Given the description of an element on the screen output the (x, y) to click on. 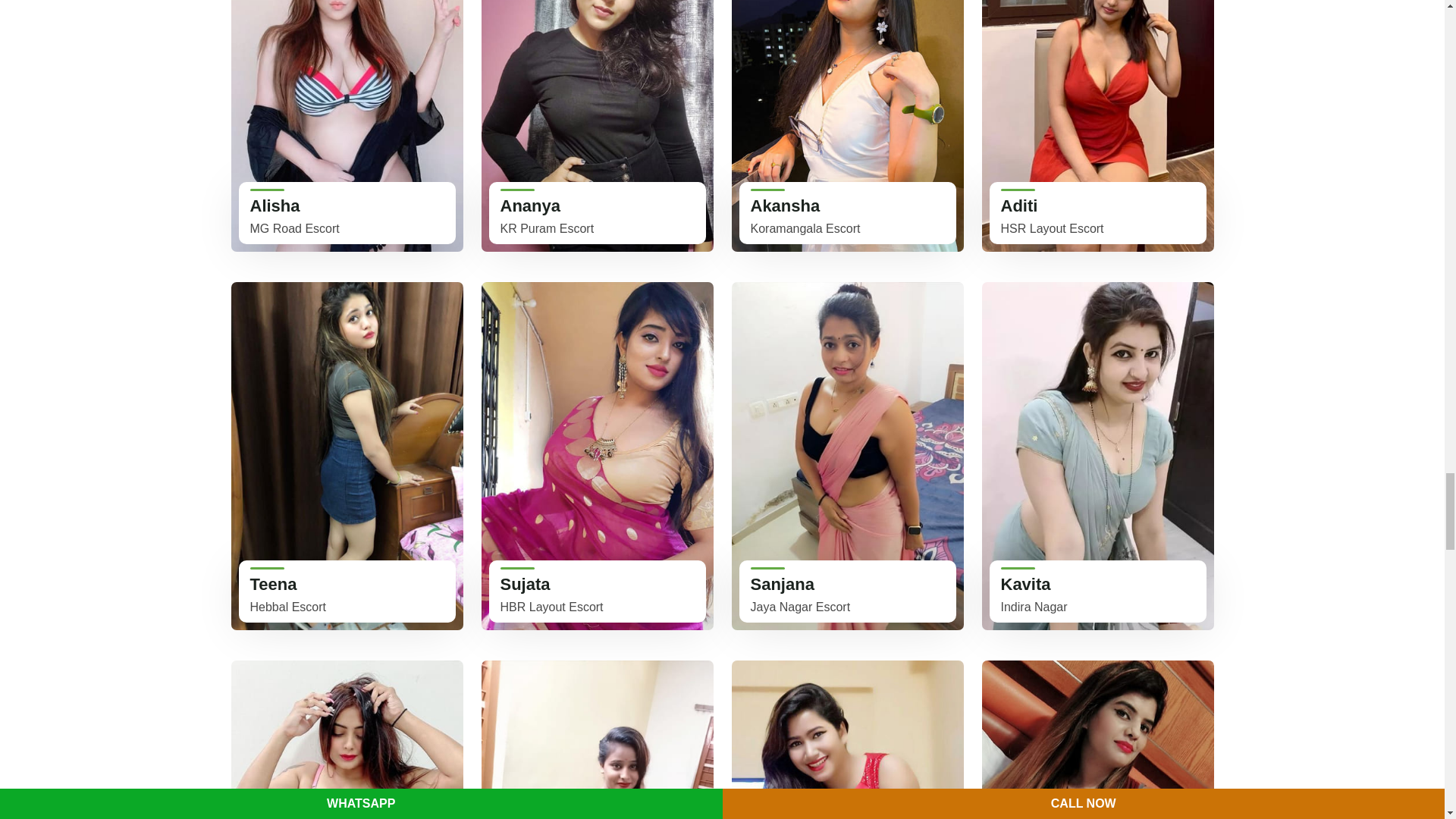
HSR Layout Escort (1096, 125)
Koramangala Escort (846, 125)
MG Road Escort (346, 125)
KR Puram Escort (596, 125)
